Given the description of an element on the screen output the (x, y) to click on. 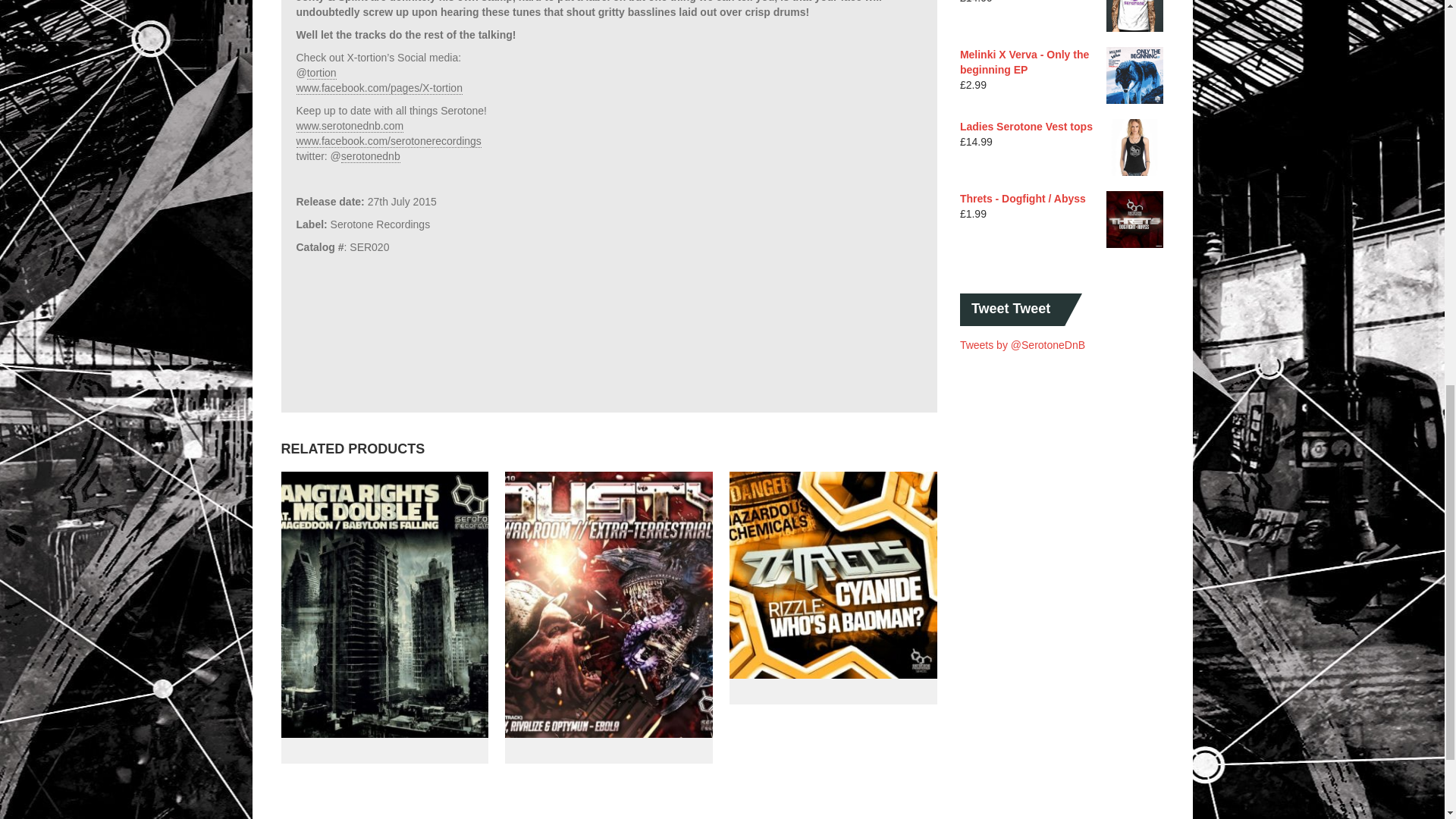
tortion (321, 72)
www.serotonednb.com (349, 125)
